Given the description of an element on the screen output the (x, y) to click on. 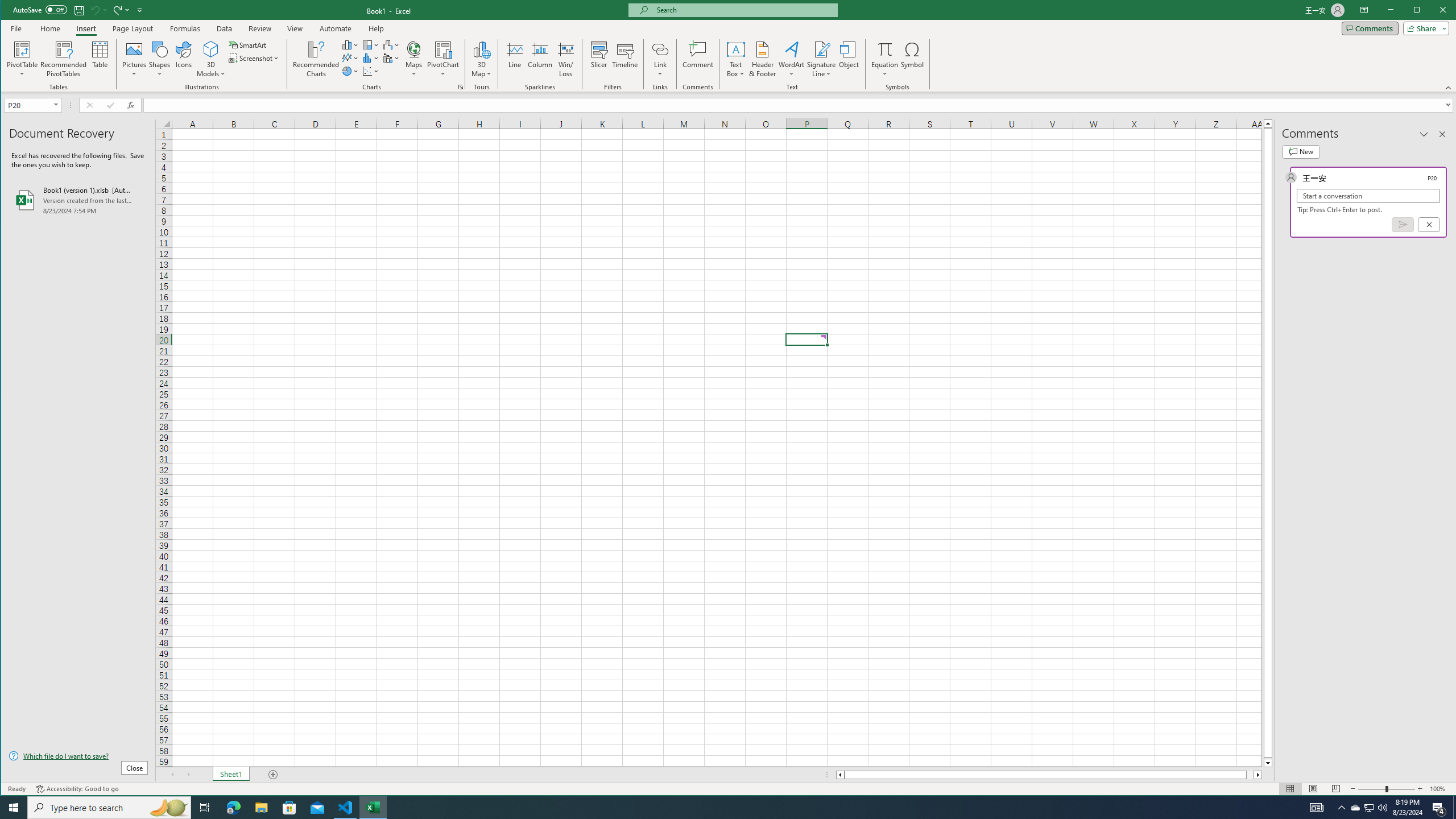
Icons (183, 59)
Signature Line (1355, 807)
System (821, 48)
Line up (11, 10)
Column right (1267, 122)
AutomationID: 4105 (1258, 774)
Show desktop (1316, 807)
Review (1454, 807)
Help (259, 28)
More Options (376, 28)
WordArt (884, 69)
Data (791, 59)
